Given the description of an element on the screen output the (x, y) to click on. 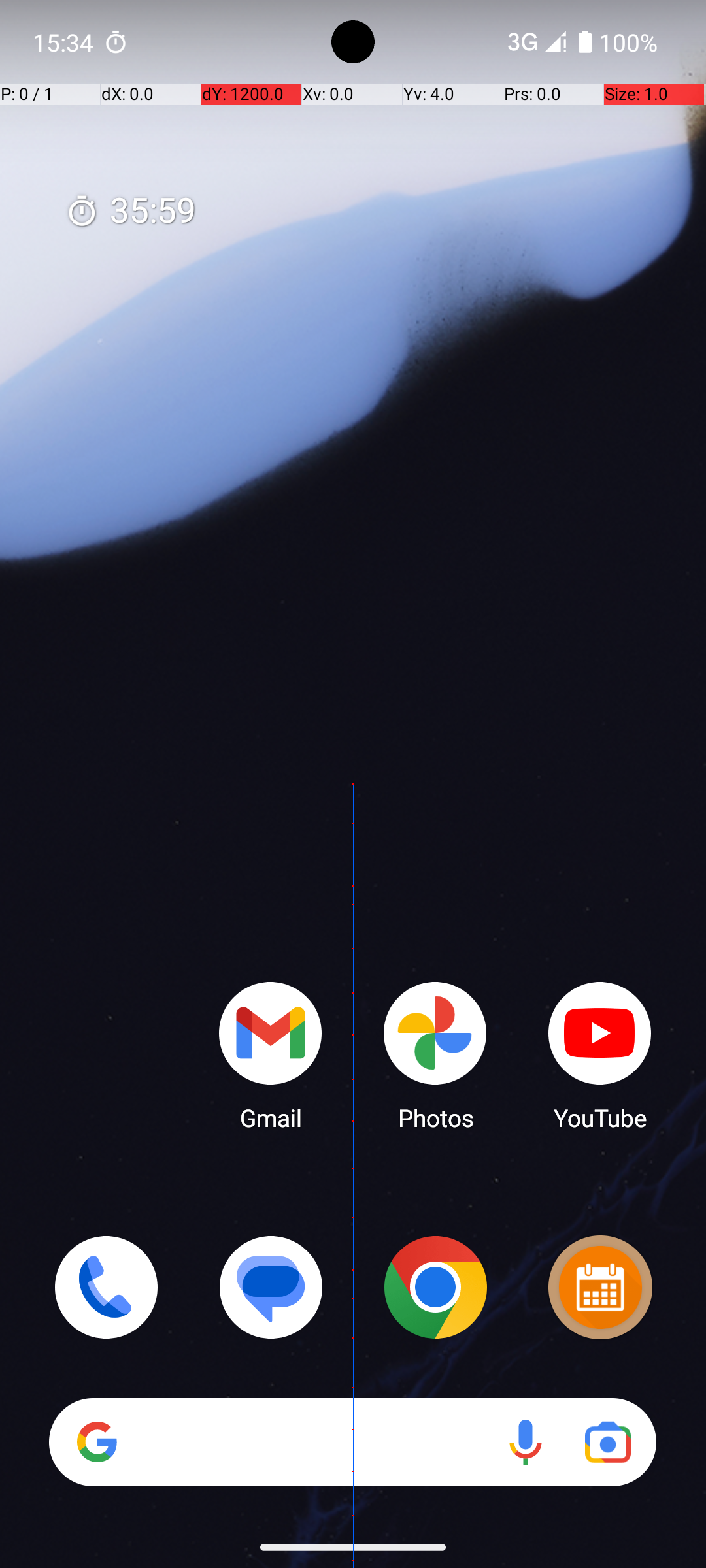
Home Element type: android.view.View (353, 804)
Phone Element type: android.widget.TextView (105, 1287)
Messages Element type: android.widget.TextView (270, 1287)
Chrome Element type: android.widget.TextView (435, 1287)
Calendar Element type: android.widget.TextView (599, 1287)
35:59 Element type: android.widget.TextView (130, 210)
